Given the description of an element on the screen output the (x, y) to click on. 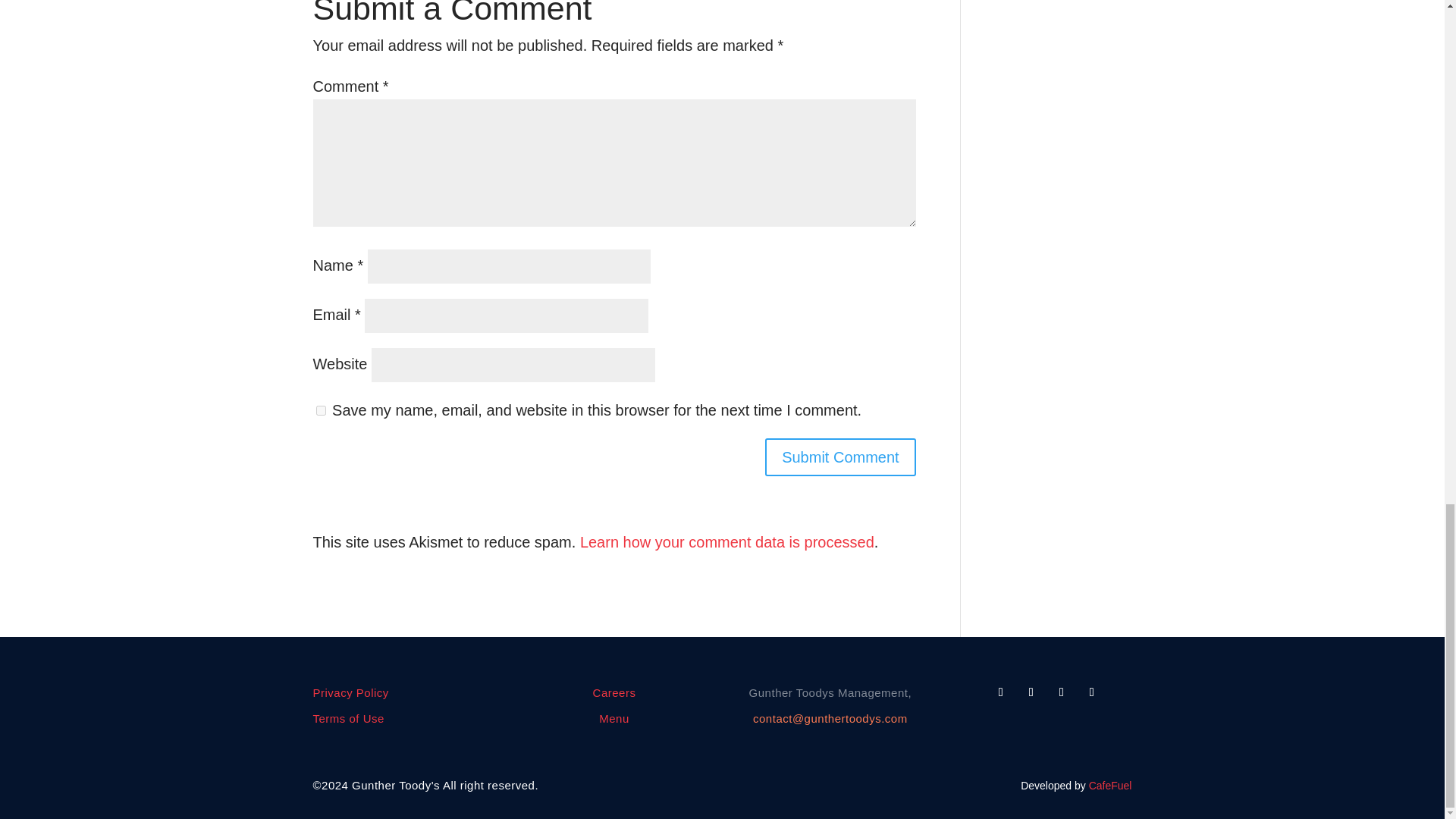
Learn how your comment data is processed (727, 541)
Terms of Use (348, 717)
Follow on Facebook (1000, 692)
Privacy Policy (350, 692)
Follow on Youtube (1061, 692)
Submit Comment (840, 456)
CafeFuel (1110, 785)
Careers (614, 692)
Submit Comment (840, 456)
yes (319, 410)
Menu (613, 717)
Follow on Instagram (1091, 692)
Follow on X (1031, 692)
